Given the description of an element on the screen output the (x, y) to click on. 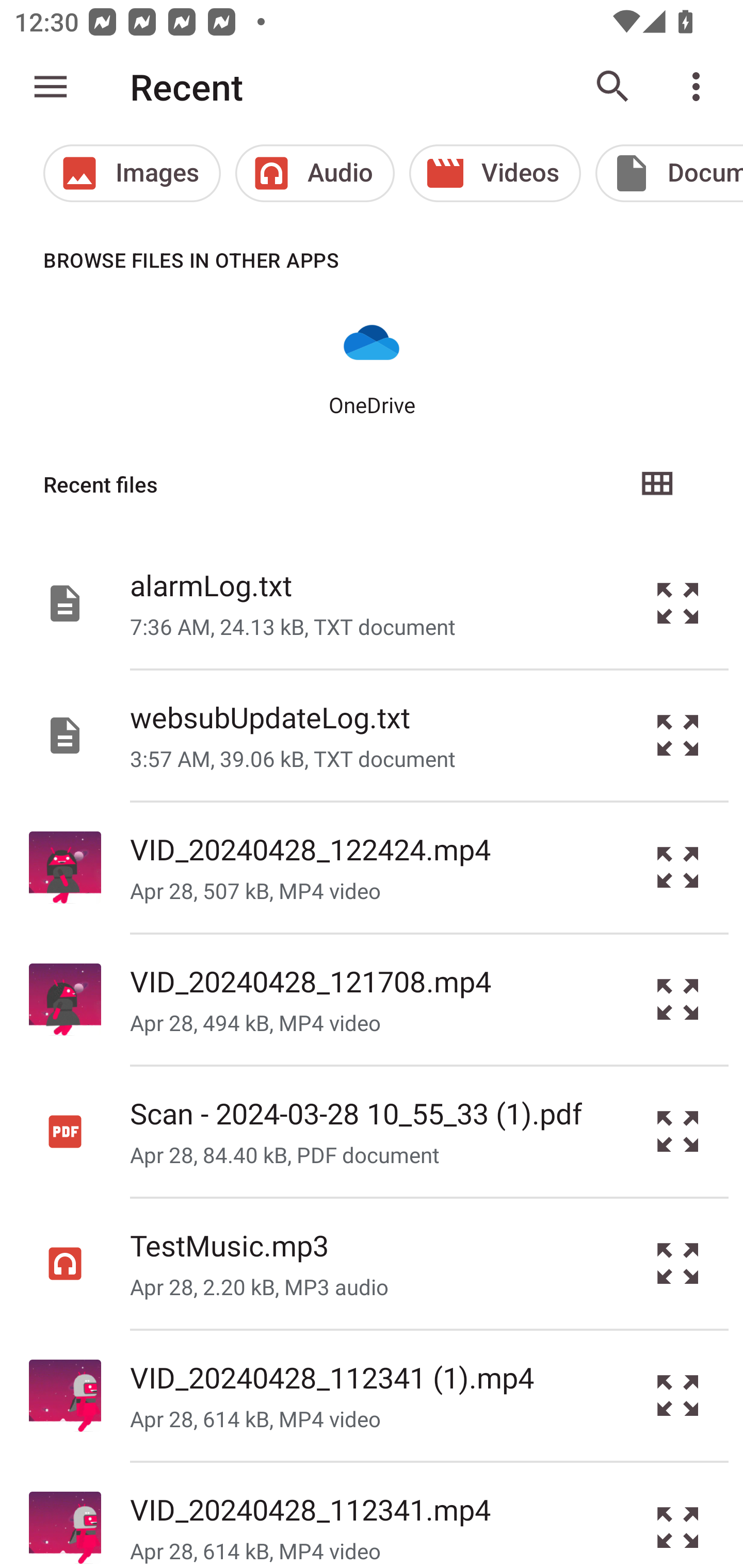
Show roots (50, 86)
Search (612, 86)
More options (699, 86)
Images (131, 173)
Audio (314, 173)
Videos (495, 173)
Documents (669, 173)
OneDrive (371, 365)
Grid view (655, 484)
Preview the file alarmLog.txt (677, 602)
Preview the file websubUpdateLog.txt (677, 736)
Preview the file VID_20240428_122424.mp4 (677, 867)
Preview the file VID_20240428_121708.mp4 (677, 999)
Preview the file TestMusic.mp3 (677, 1262)
Preview the file VID_20240428_112341 (1).mp4 (677, 1396)
Preview the file VID_20240428_112341.mp4 (677, 1515)
